Given the description of an element on the screen output the (x, y) to click on. 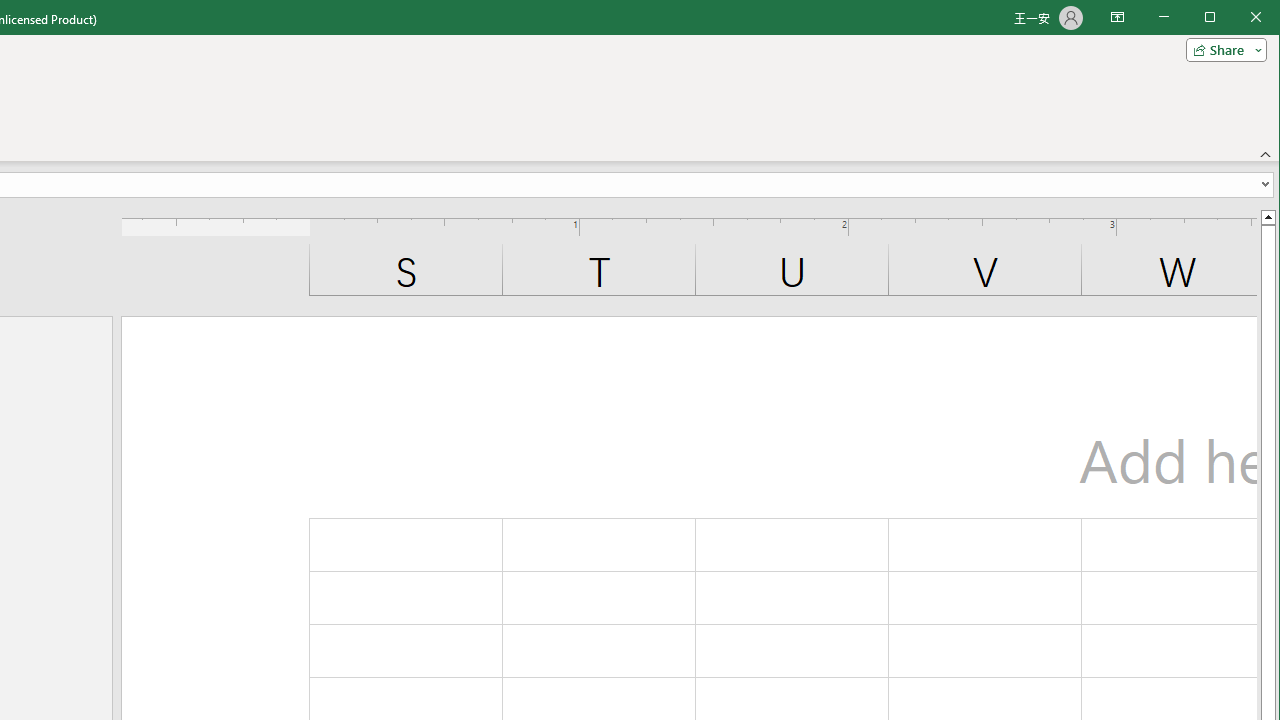
Maximize (1238, 18)
